Given the description of an element on the screen output the (x, y) to click on. 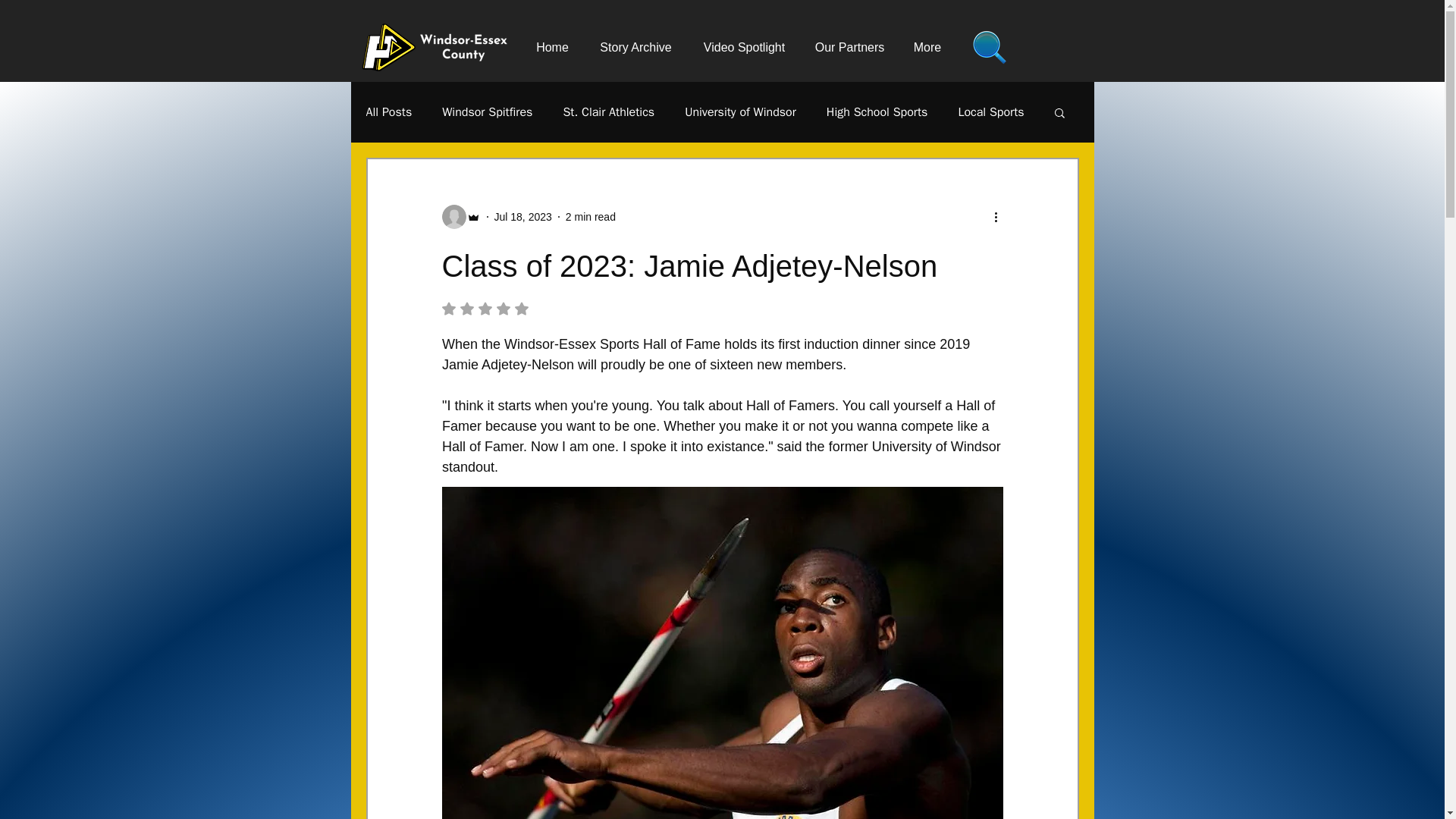
Windsor Spitfires (487, 112)
St. Clair Athletics (607, 112)
High School Sports (877, 112)
All Posts (388, 112)
Story Archive (635, 47)
University of Windsor (740, 112)
2 min read (590, 216)
Home (551, 47)
Local Sports (990, 112)
Jul 18, 2023 (523, 216)
